Given the description of an element on the screen output the (x, y) to click on. 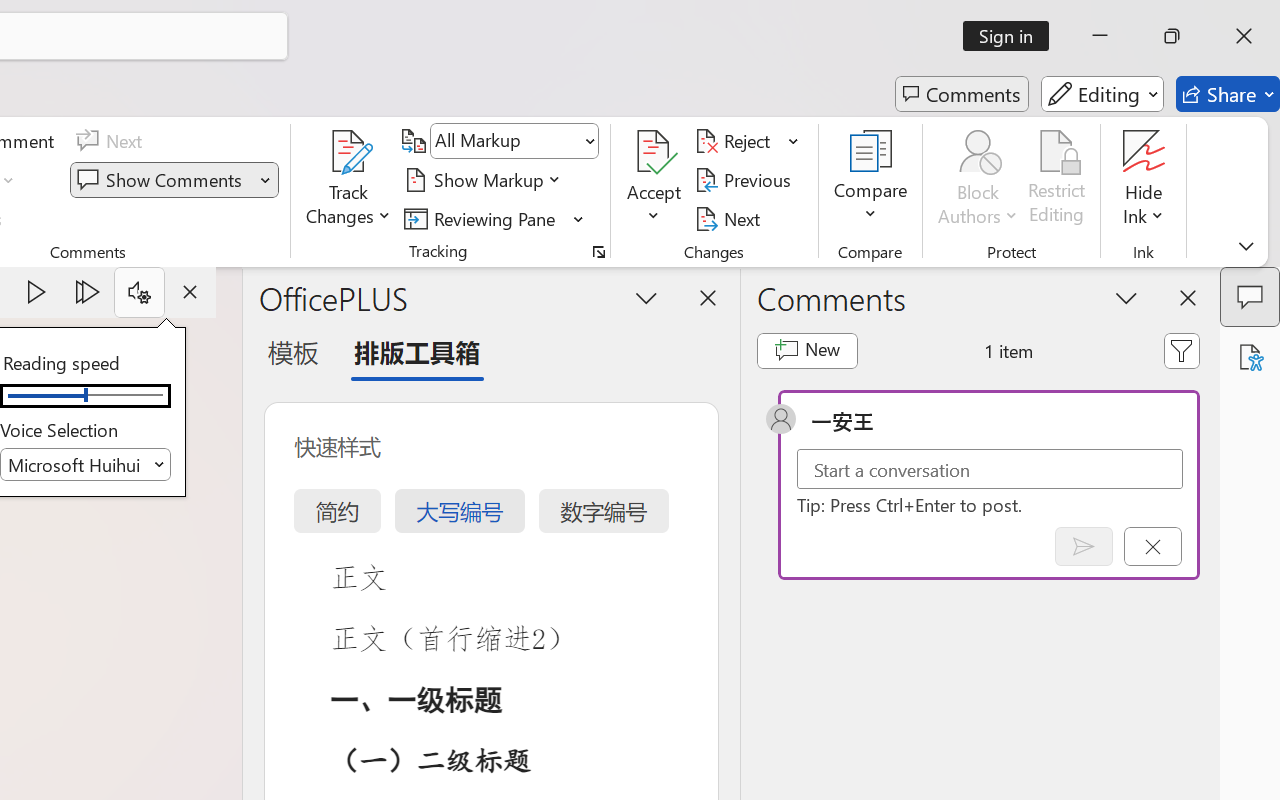
Filter (1181, 350)
Reviewing Pane (483, 218)
Hide Ink (1144, 151)
Track Changes (349, 151)
Settings (139, 292)
Block Authors (977, 151)
Post comment (Ctrl + Enter) (1083, 546)
Change Tracking Options... (598, 252)
Hide Ink (1144, 179)
Restrict Editing (1057, 179)
